Given the description of an element on the screen output the (x, y) to click on. 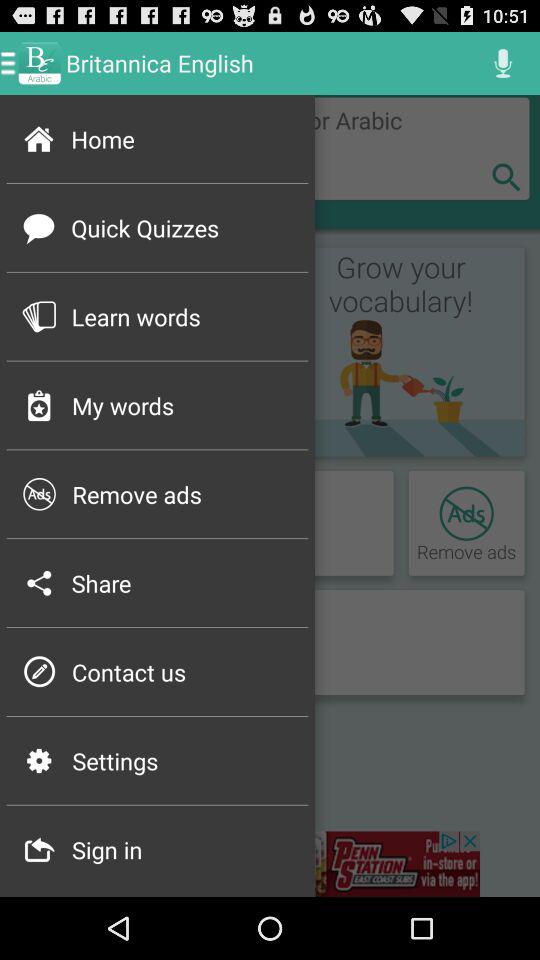
swipe to the p (38, 671)
